Given the description of an element on the screen output the (x, y) to click on. 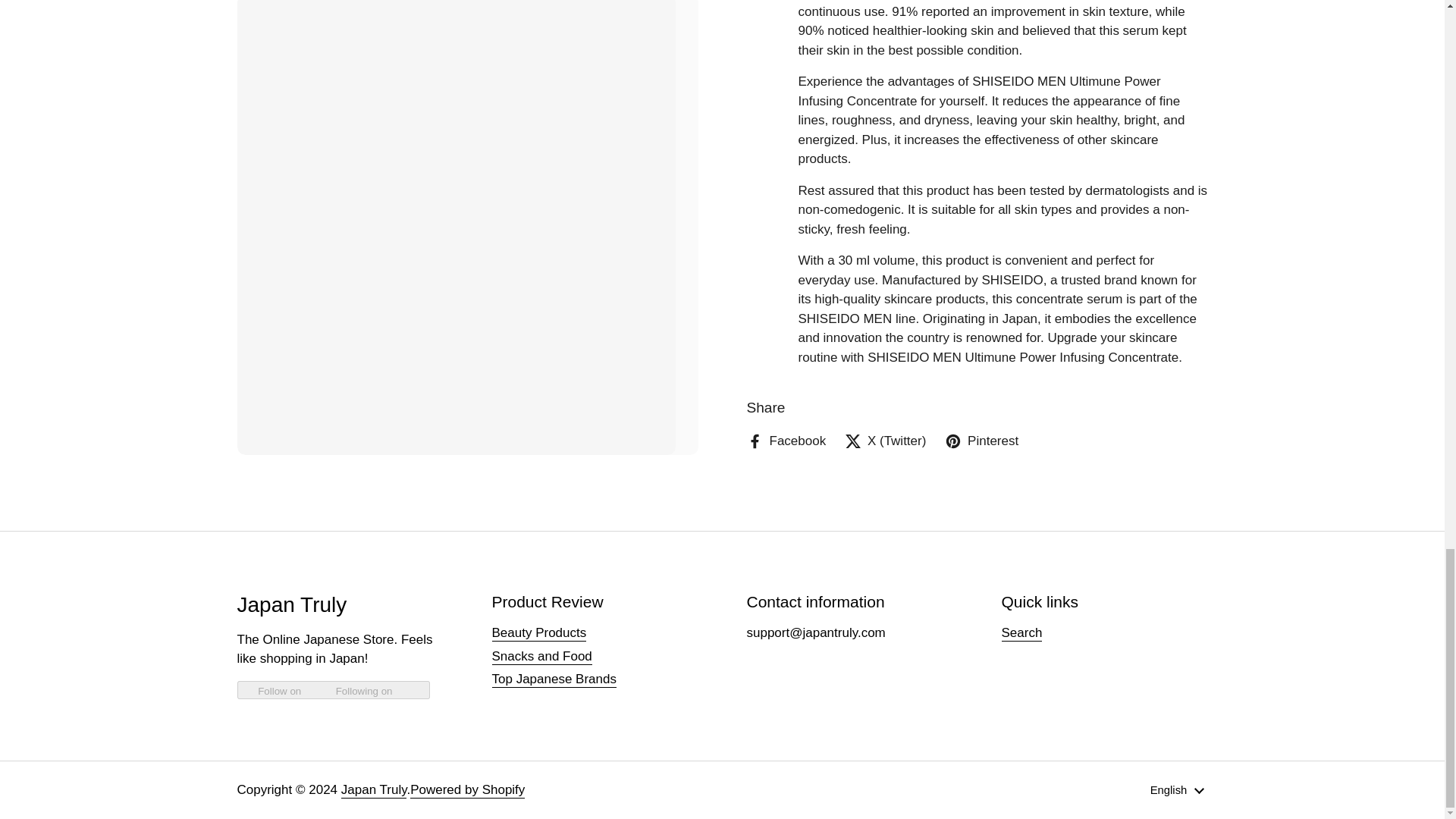
Share on pinterest (980, 227)
Share on facebook (785, 227)
Snacks and Food (541, 657)
Facebook (785, 227)
Beauty Products (539, 633)
Pinterest (980, 227)
Share on X (885, 227)
